Given the description of an element on the screen output the (x, y) to click on. 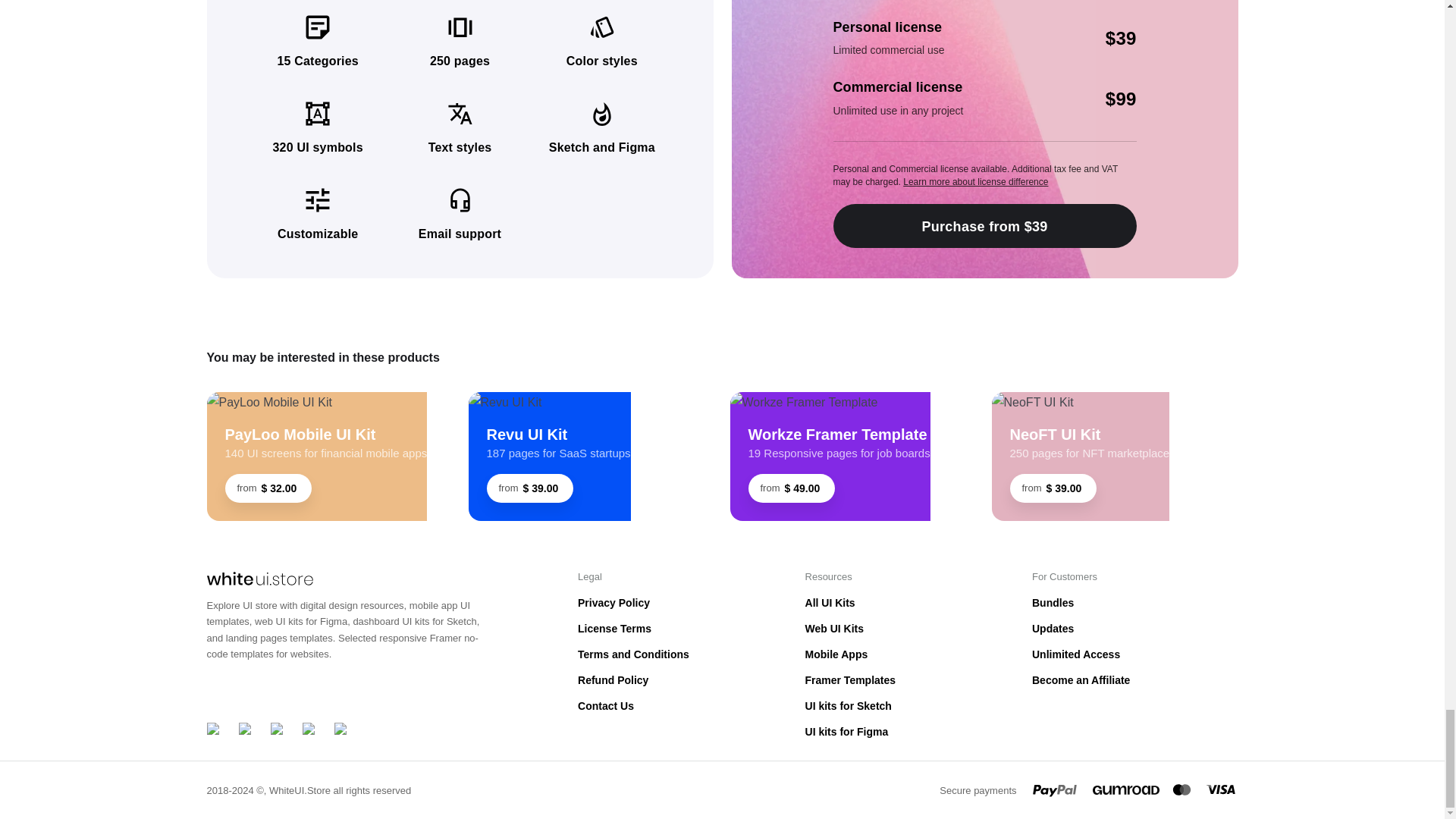
UI kits for Sketch (850, 705)
Framer Templates (850, 680)
Unlimited Access (1080, 654)
Contact Us (633, 705)
Become an Affiliate (1080, 680)
Web UI Kits (850, 628)
All UI Kits (850, 602)
Mobile Apps (850, 654)
Privacy Policy (633, 602)
Terms and Conditions (633, 654)
License Terms (633, 628)
Explore UI Resource (549, 402)
Learn more about license difference (975, 182)
Refund Policy (633, 680)
Explore UI Resource (1080, 402)
